Given the description of an element on the screen output the (x, y) to click on. 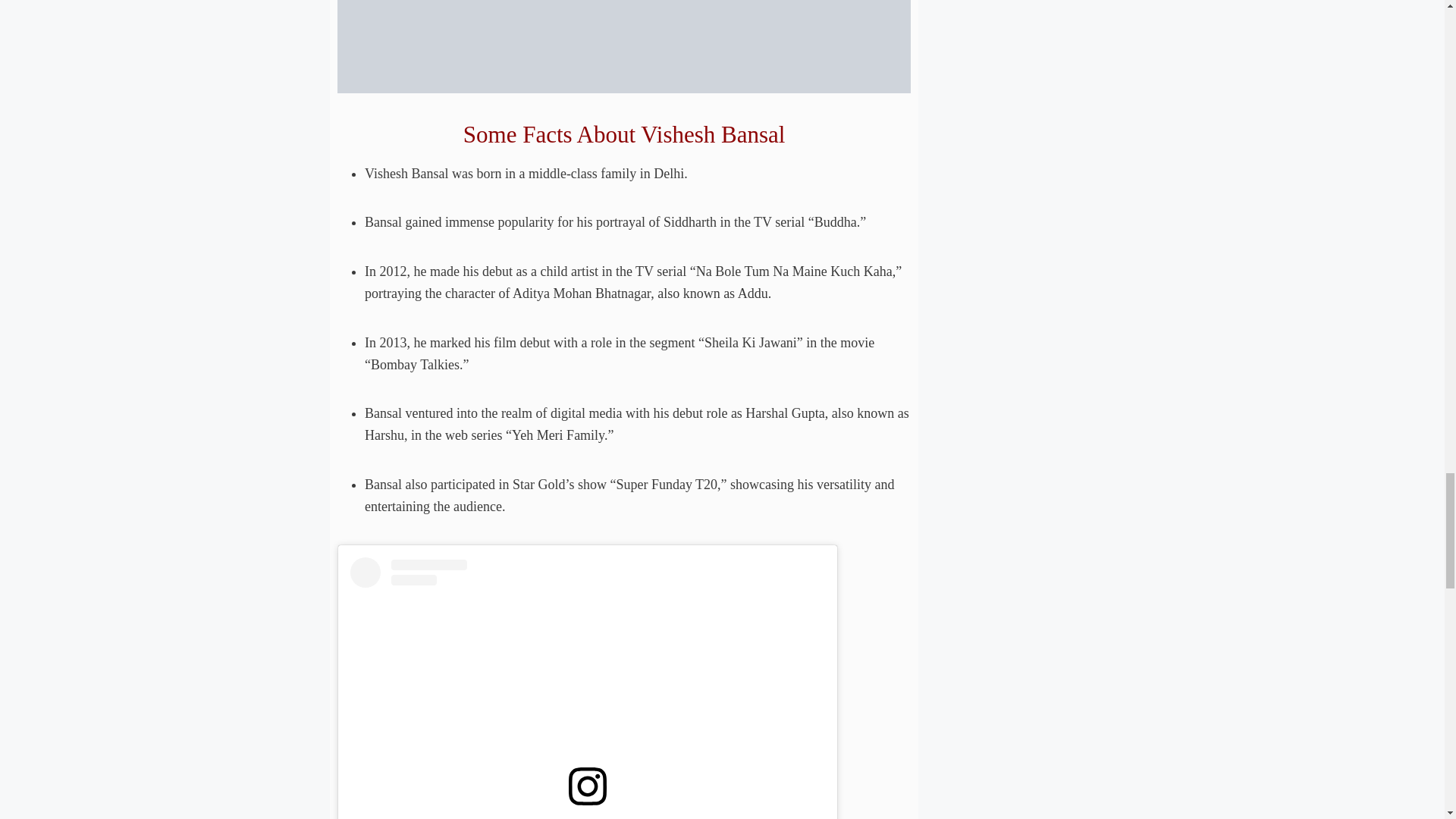
View this post on Instagram (587, 687)
